Given the description of an element on the screen output the (x, y) to click on. 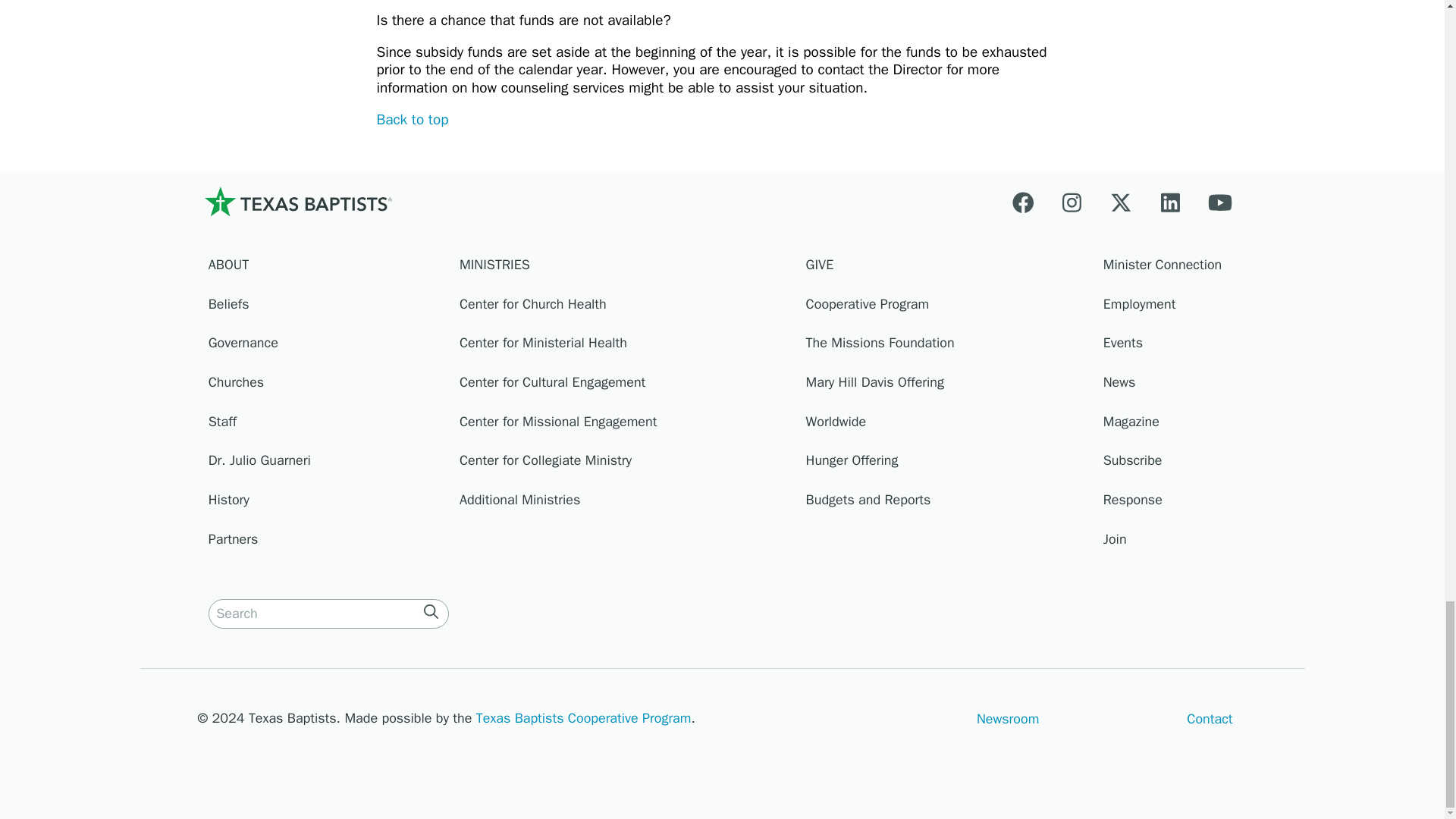
Home (297, 201)
Back to top (411, 119)
Partners (326, 542)
MINISTRIES (626, 268)
Governance (326, 346)
Center for Church Health (626, 307)
ABOUT (326, 268)
Center for Ministerial Health (626, 346)
Churches (326, 385)
Staff (326, 425)
